Given the description of an element on the screen output the (x, y) to click on. 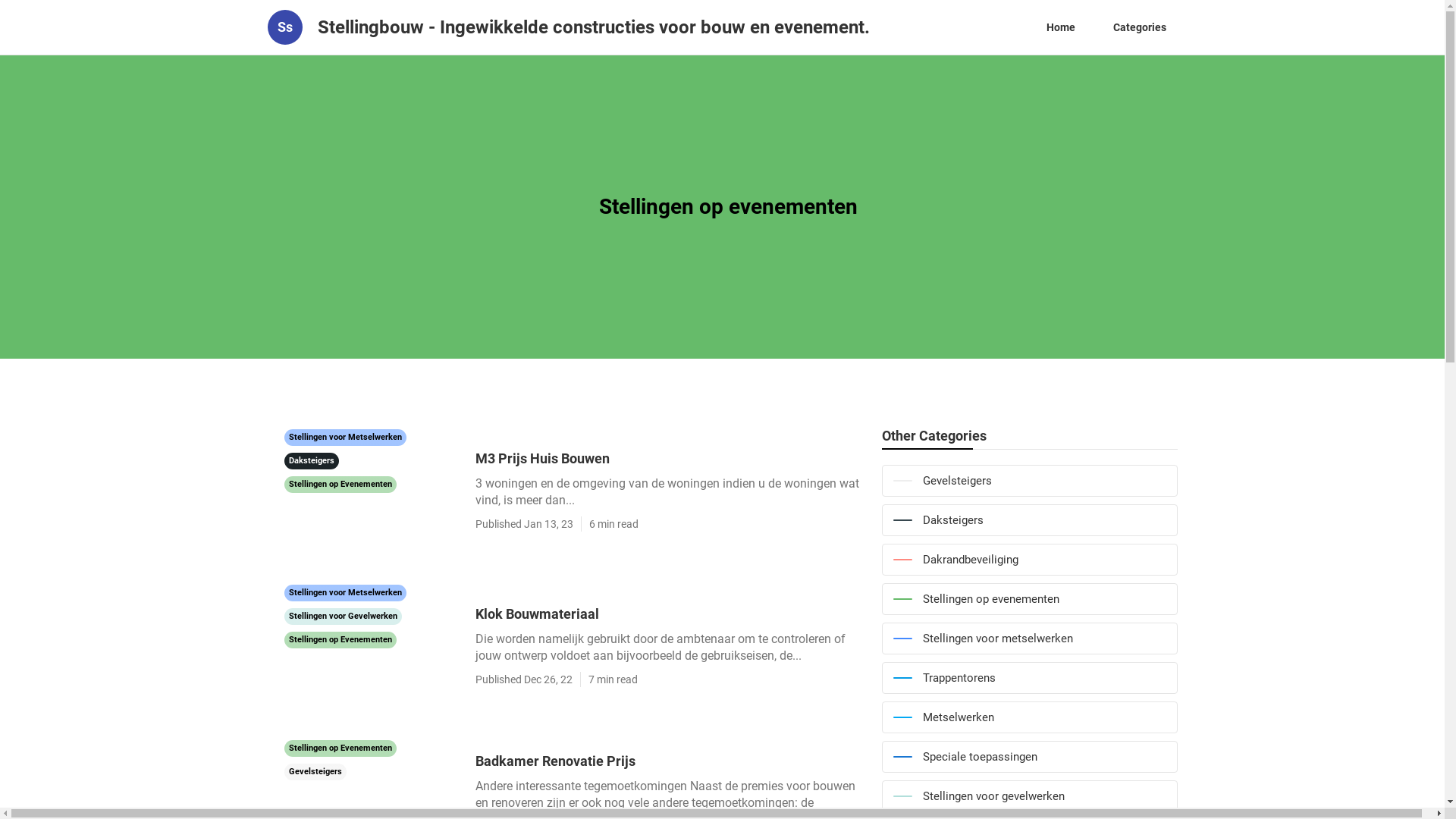
Stellingen op Evenementen Element type: text (339, 638)
Metselwerken Element type: text (1028, 717)
Klok Bouwmateriaal Element type: text (670, 614)
Stellingen op Evenementen Element type: text (339, 746)
Dakrandbeveiliging Element type: text (1028, 559)
Categories Element type: text (1138, 26)
Stellingen voor Metselwerken Element type: text (344, 591)
M3 Prijs Huis Bouwen Element type: text (670, 457)
Stellingen op Evenementen Element type: text (339, 482)
Badkamer Renovatie Prijs Element type: text (670, 761)
Gevelsteigers Element type: text (314, 770)
Stellingen voor metselwerken Element type: text (1028, 638)
Daksteigers Element type: text (310, 459)
Gevelsteigers Element type: text (1028, 480)
Trappentorens Element type: text (1028, 677)
Stellingen op evenementen Element type: text (1028, 599)
Stellingen voor Gevelwerken Element type: text (342, 614)
Stellingen voor Metselwerken Element type: text (344, 435)
Home Element type: text (1059, 26)
Speciale toepassingen Element type: text (1028, 756)
Stellingen voor gevelwerken Element type: text (1028, 796)
Daksteigers Element type: text (1028, 520)
